Given the description of an element on the screen output the (x, y) to click on. 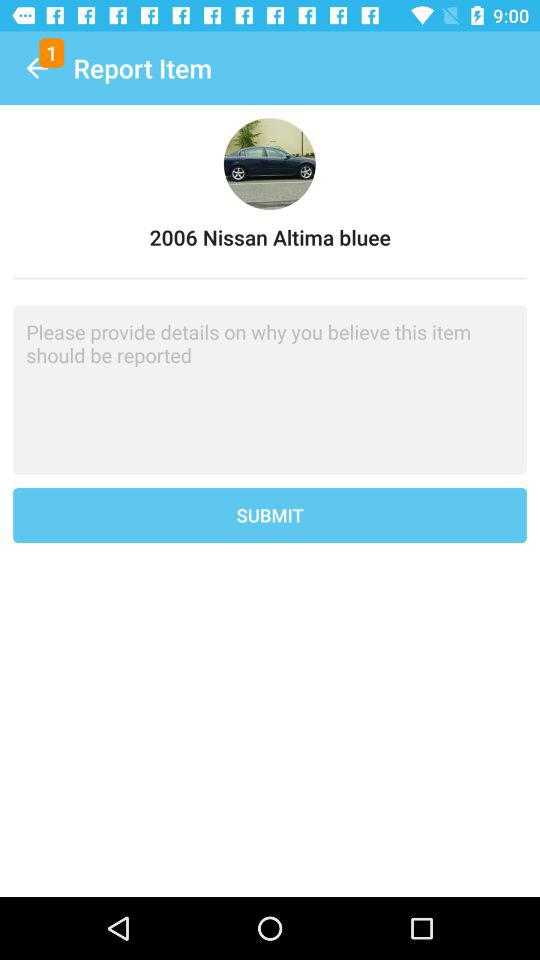
turn off the icon to the left of report item item (36, 68)
